Given the description of an element on the screen output the (x, y) to click on. 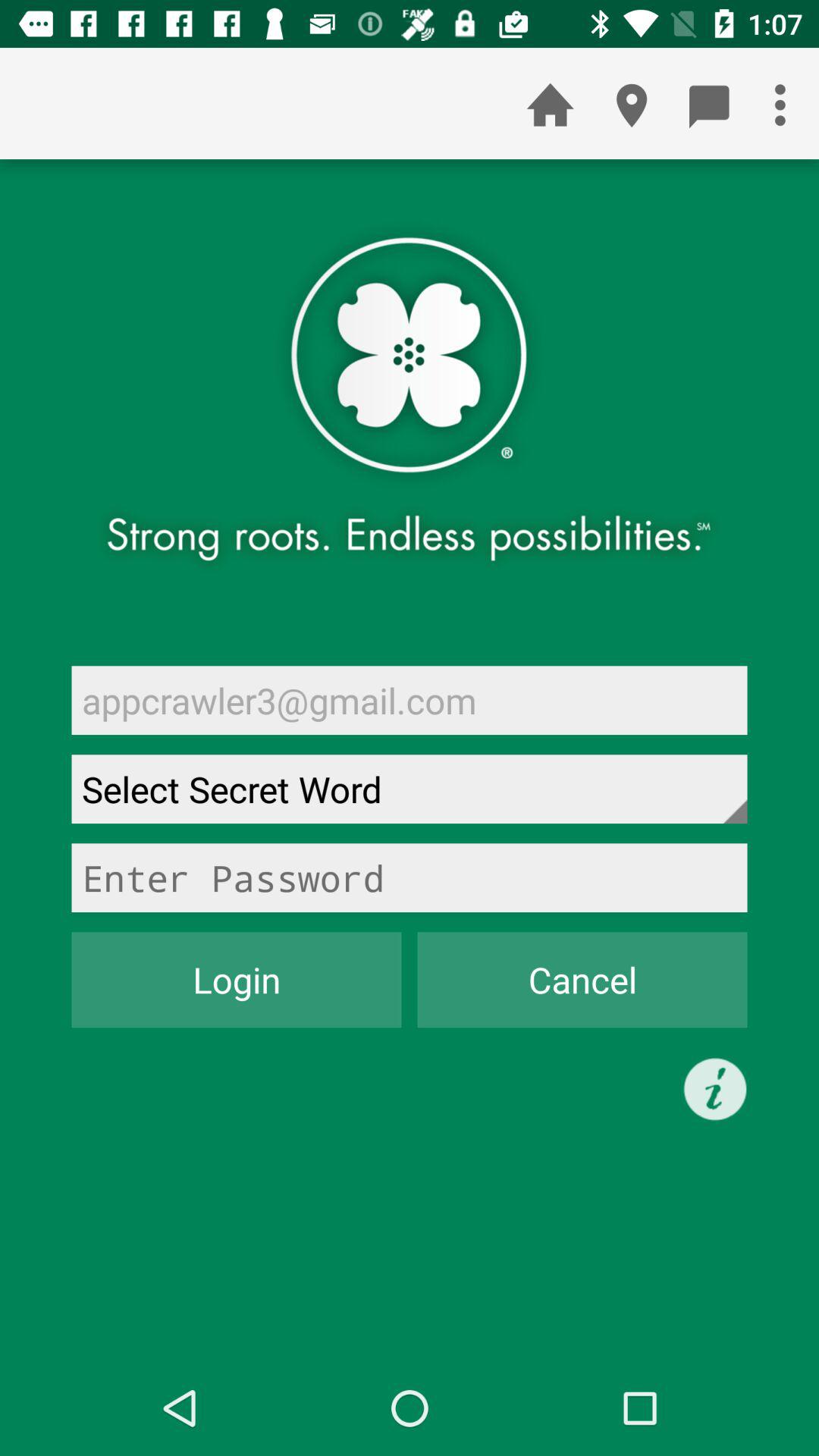
select the icon at the bottom left corner (236, 979)
